Given the description of an element on the screen output the (x, y) to click on. 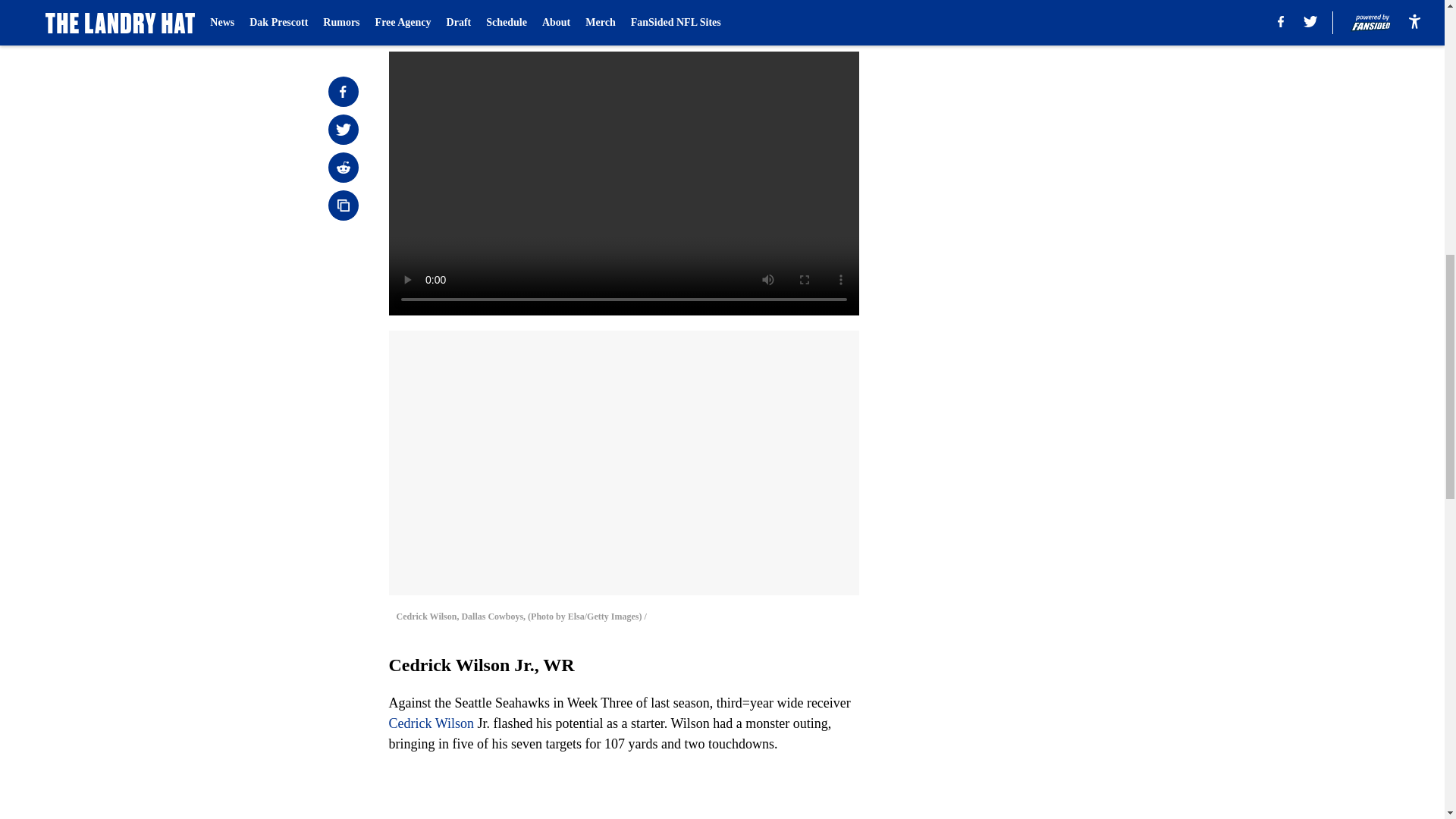
3rd party ad content (1047, 100)
3rd party ad content (1047, 320)
Next (813, 20)
Prev (433, 20)
Cedrick Wilson (430, 723)
